Given the description of an element on the screen output the (x, y) to click on. 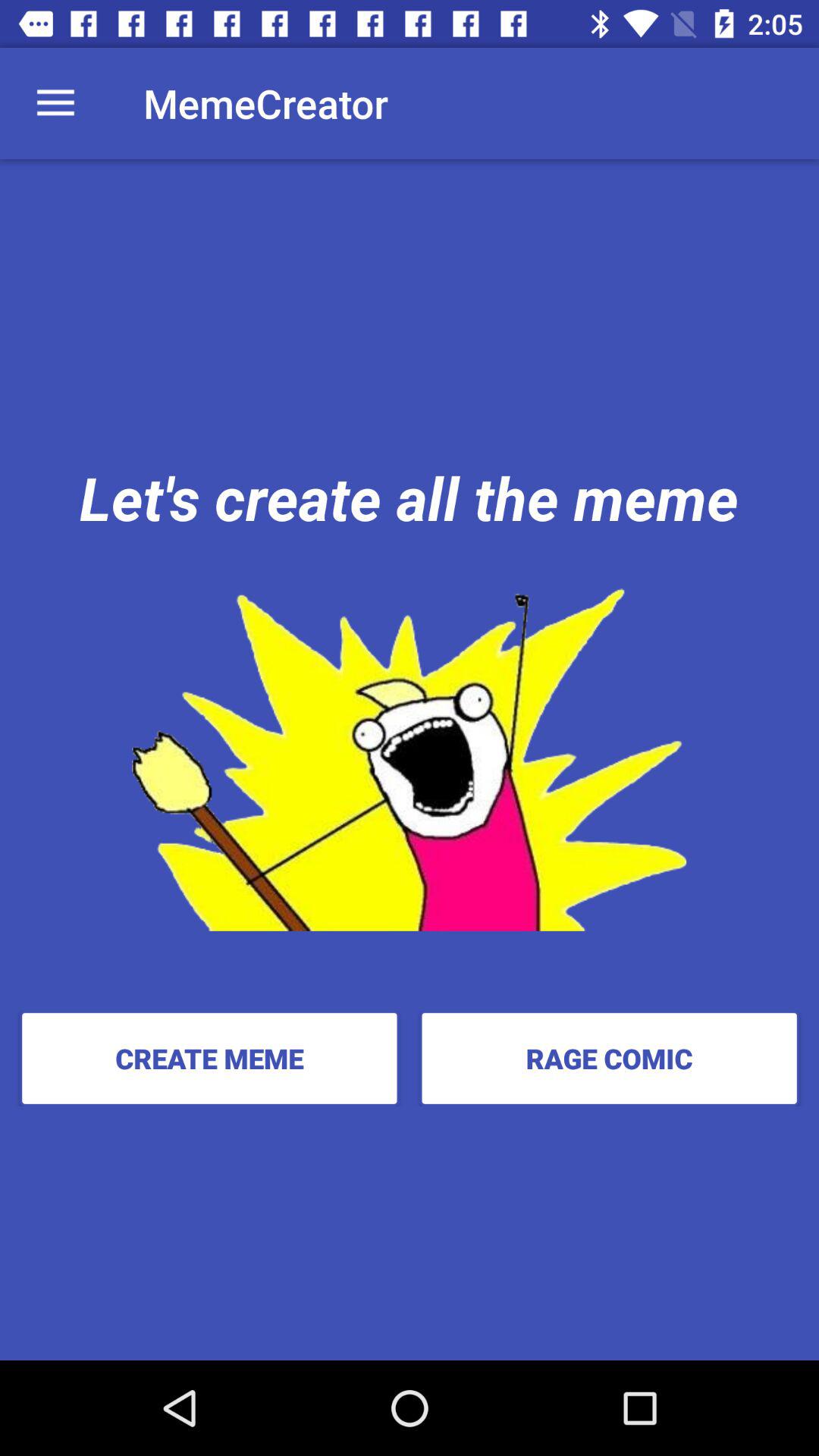
launch the icon above the let s create item (55, 103)
